Given the description of an element on the screen output the (x, y) to click on. 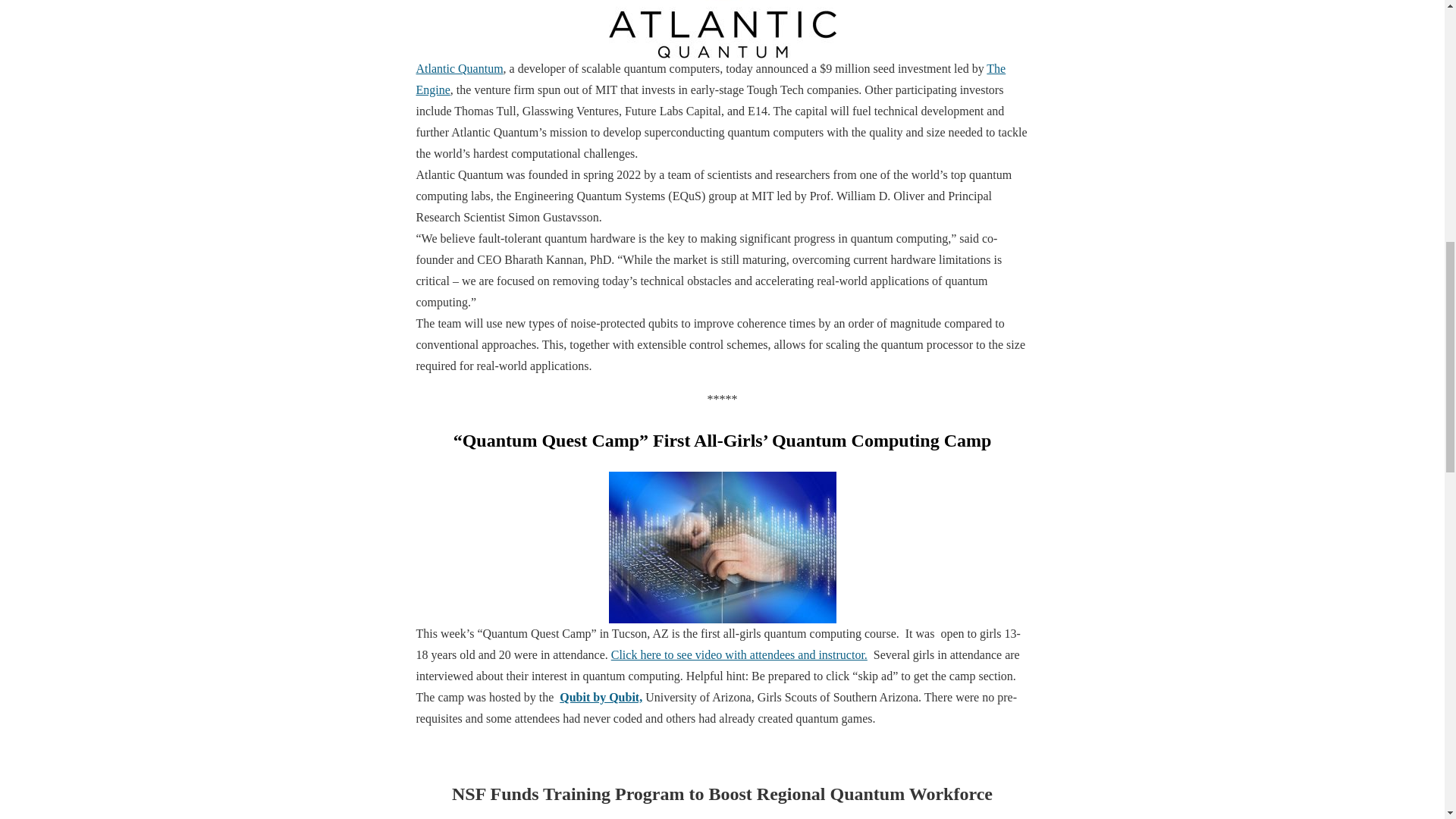
The Engine (710, 79)
Atlantic Quantum (720, 37)
Qubit by Qubit, (600, 697)
Click here to see video with attendees and instructor. (739, 654)
